Given the description of an element on the screen output the (x, y) to click on. 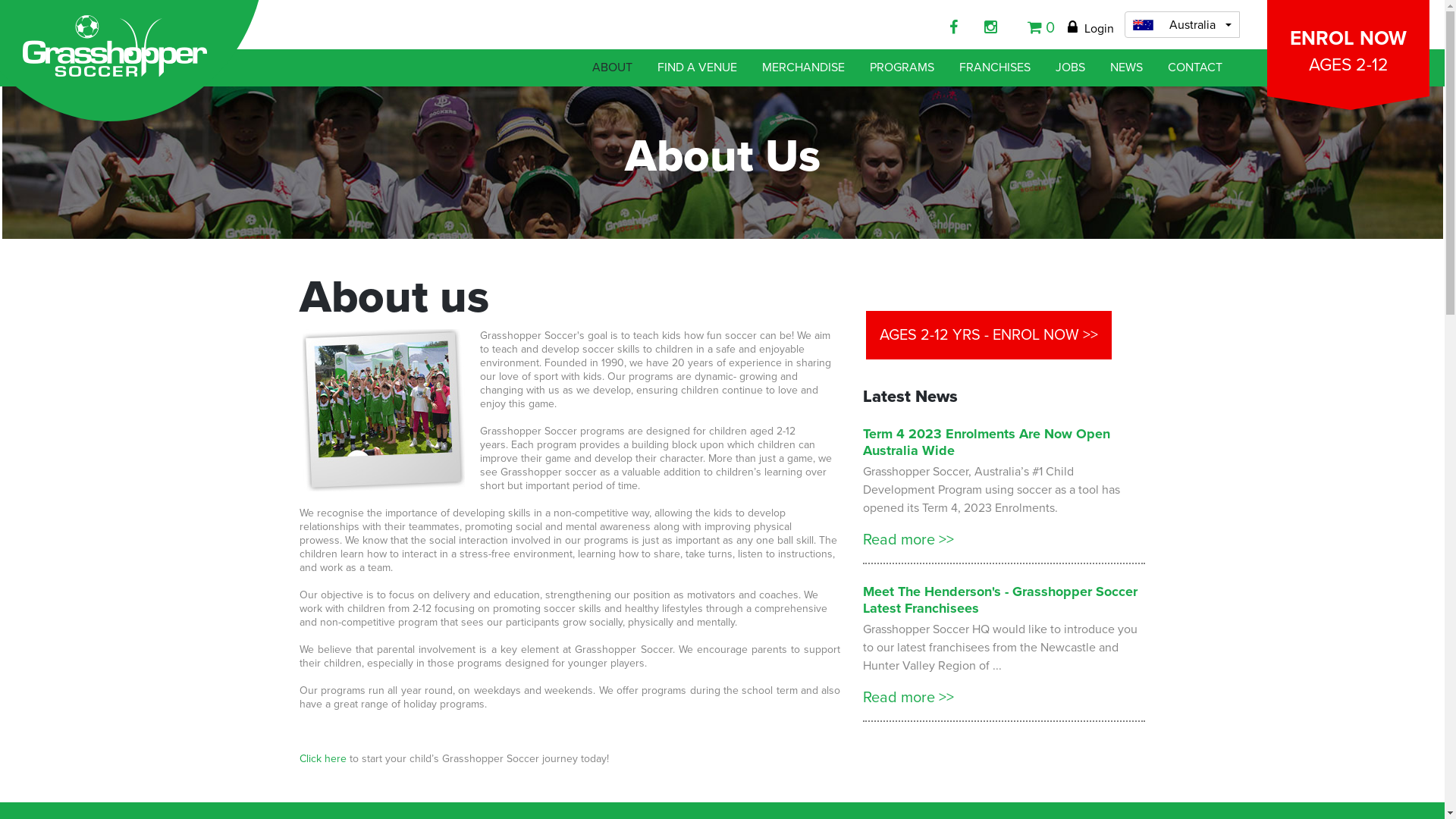
Click here  Element type: text (323, 758)
Login Element type: text (1090, 28)
MERCHANDISE Element type: text (803, 67)
Australia Element type: text (1181, 24)
PROGRAMS Element type: text (901, 67)
ABOUT Element type: text (612, 67)
AGES 2-12 YRS - ENROL NOW >> Element type: text (988, 334)
JOBS Element type: text (1070, 67)
CONTACT Element type: text (1195, 67)
Read more >> Element type: text (911, 689)
Read more >> Element type: text (911, 531)
ENROL NOW
AGES 2-12 Element type: text (1348, 48)
NEWS Element type: text (1126, 67)
FRANCHISES Element type: text (994, 67)
FIND A VENUE Element type: text (696, 67)
